Given the description of an element on the screen output the (x, y) to click on. 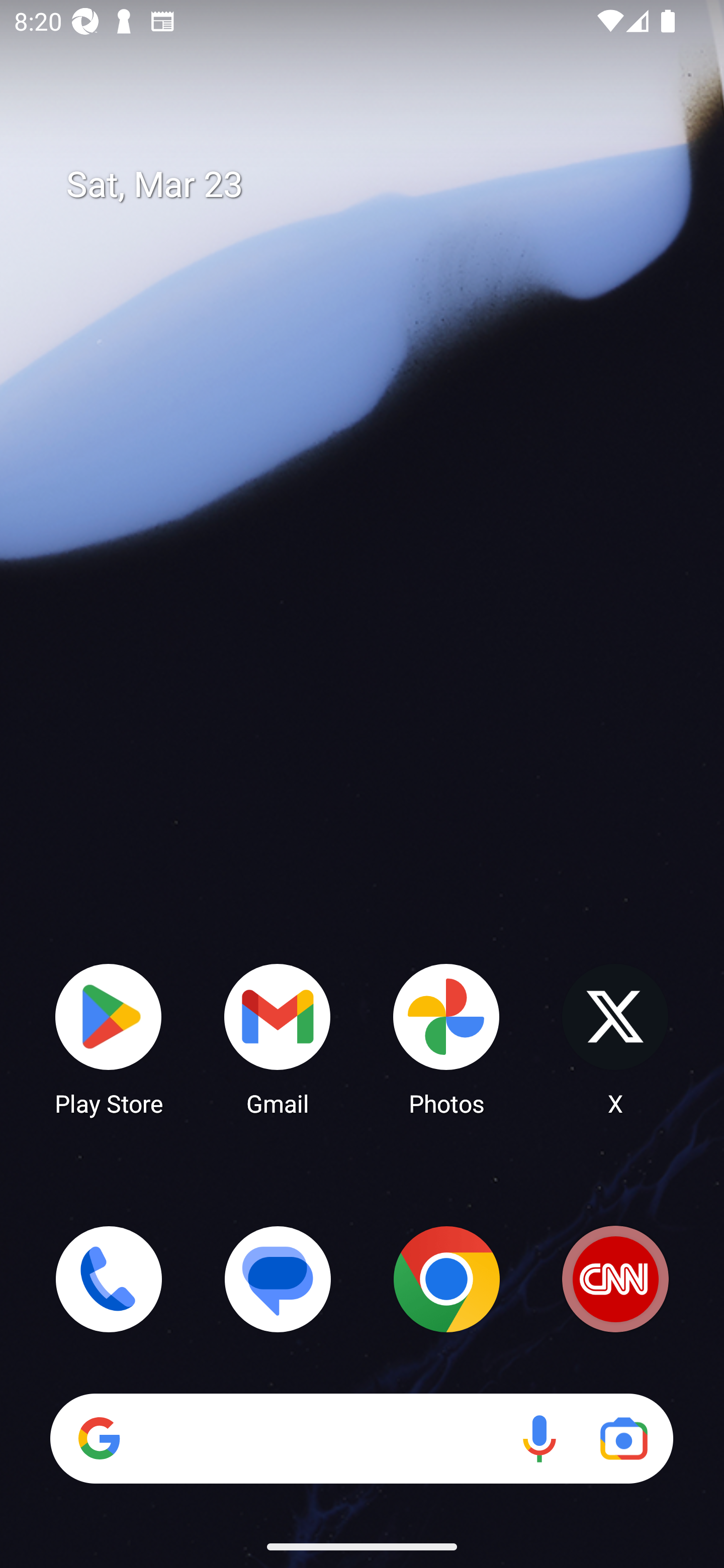
Sat, Mar 23 (375, 184)
Play Store (108, 1038)
Gmail (277, 1038)
Photos (445, 1038)
X (615, 1038)
Phone (108, 1279)
Messages (277, 1279)
Chrome (446, 1279)
CNN Predicted app: CNN (615, 1279)
Voice search (539, 1438)
Google Lens (623, 1438)
